Given the description of an element on the screen output the (x, y) to click on. 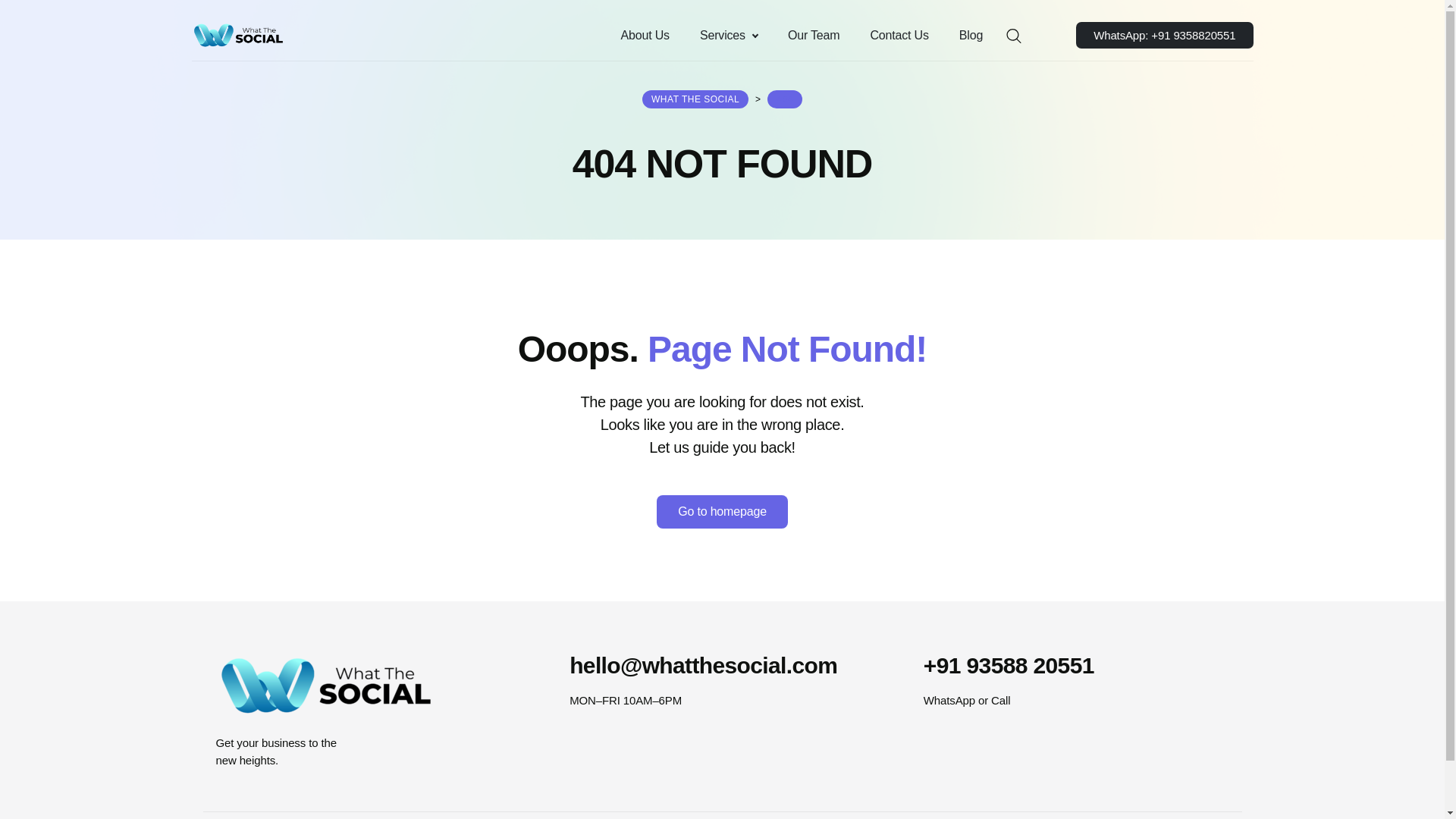
WHAT THE SOCIAL (695, 99)
Our Team (814, 34)
Go to homepage (722, 511)
Services (728, 34)
Contact Us (898, 34)
404 (784, 99)
Go to 404. (784, 99)
Blog (970, 34)
About Us (644, 34)
Search (16, 16)
